Given the description of an element on the screen output the (x, y) to click on. 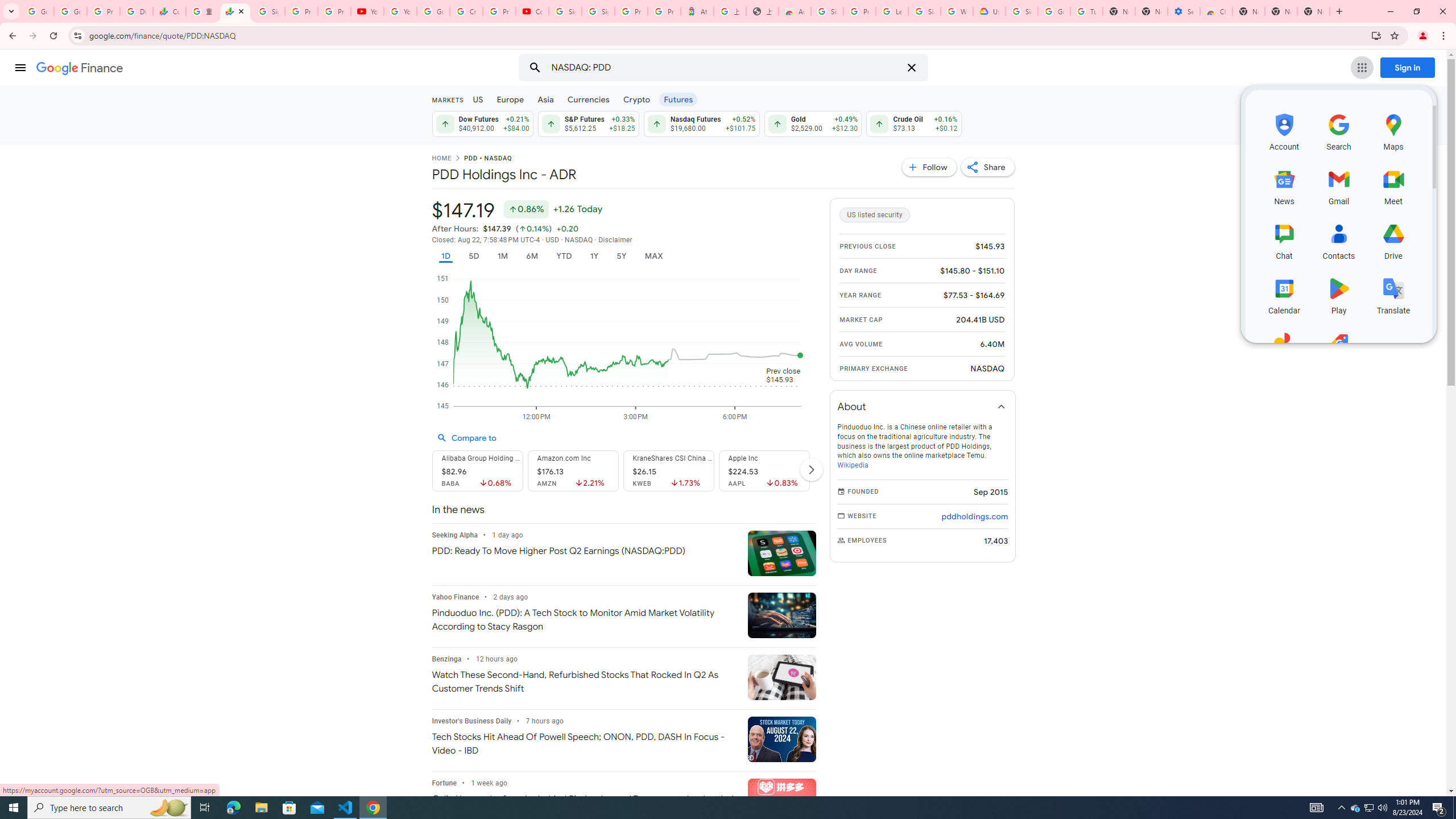
Currencies - Google Finance (169, 11)
Turn cookies on or off - Computer - Google Account Help (1086, 11)
Sign in - Google Accounts (598, 11)
S&P Futures $5,612.25 Up by 0.34% +$18.25 (588, 123)
Europe (510, 99)
Currencies (588, 99)
